Given the description of an element on the screen output the (x, y) to click on. 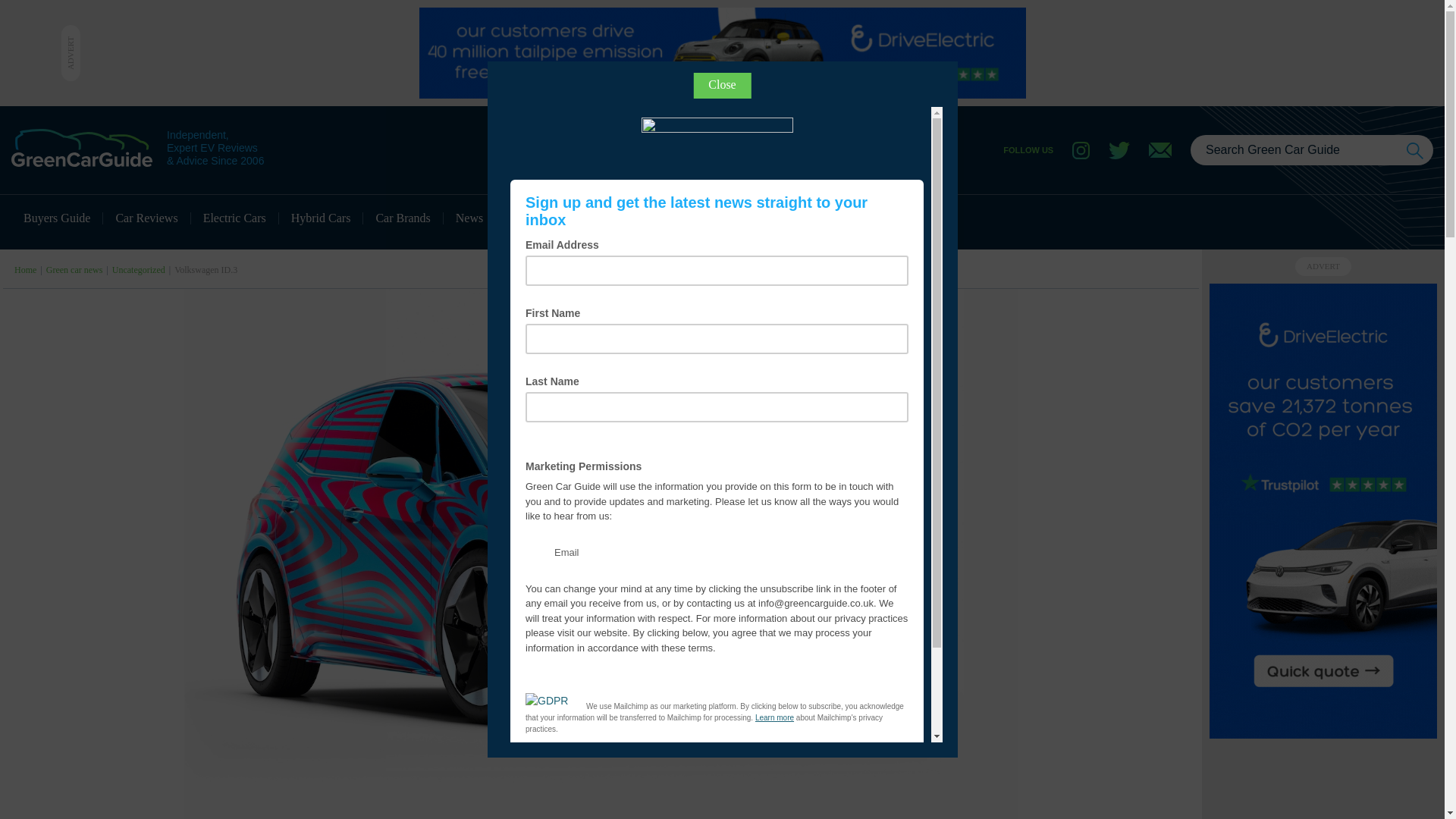
Buyers Guide (57, 218)
Search (1414, 150)
Close (722, 85)
Car Reviews (146, 218)
Go to Green car news. (74, 269)
Go to the Uncategorized category archives. (138, 269)
Go to GreenCarGuide.co.uk. (25, 269)
Electric Cars (234, 218)
Search (1414, 150)
